Given the description of an element on the screen output the (x, y) to click on. 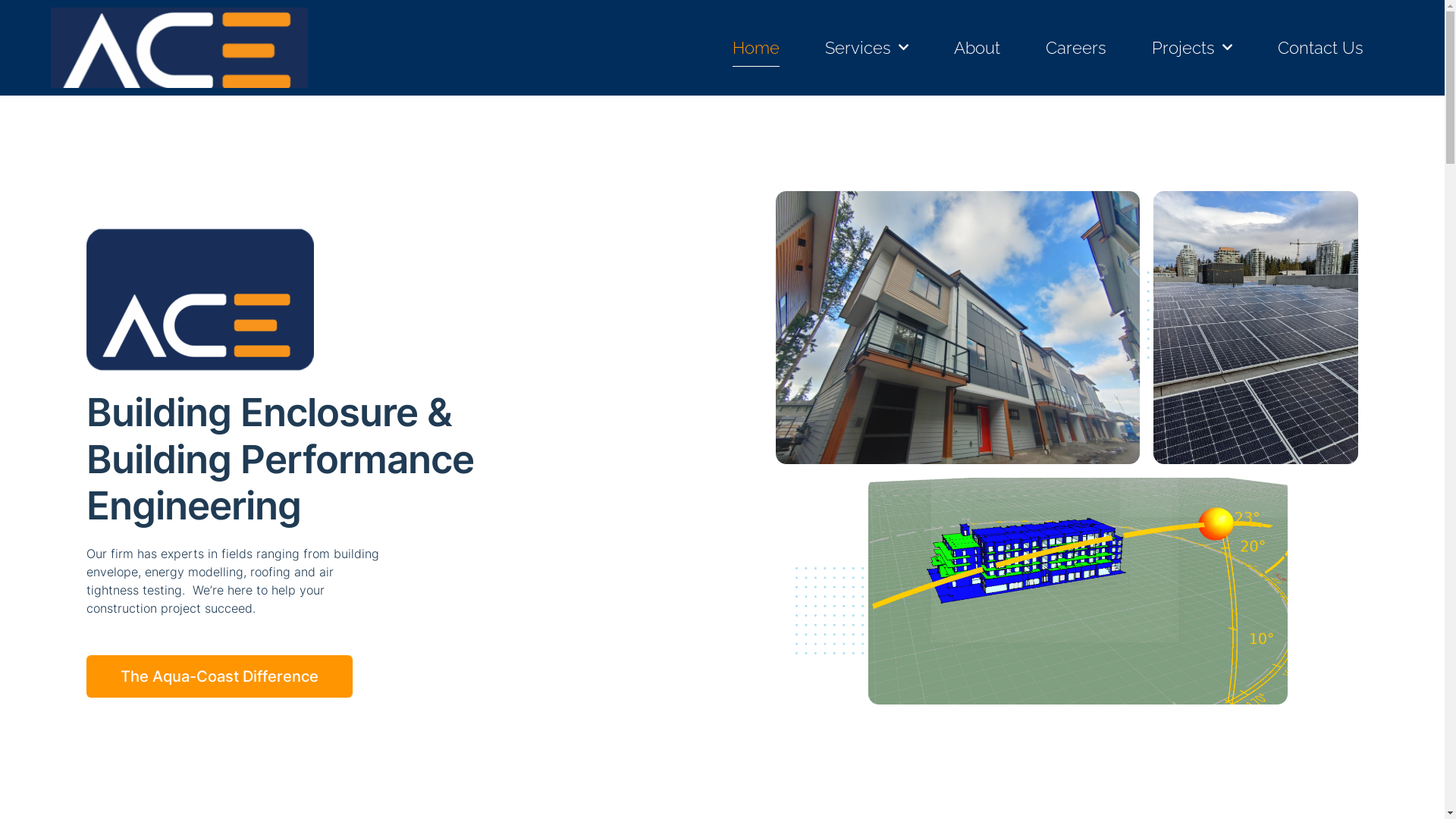
Services Element type: text (866, 47)
Home Element type: text (755, 47)
Careers Element type: text (1075, 47)
Projects Element type: text (1191, 47)
About Element type: text (976, 47)
The Aqua-Coast Difference Element type: text (219, 676)
Logo aug 2022 v2 Element type: hover (178, 47)
Contact Us Element type: text (1320, 47)
